Given the description of an element on the screen output the (x, y) to click on. 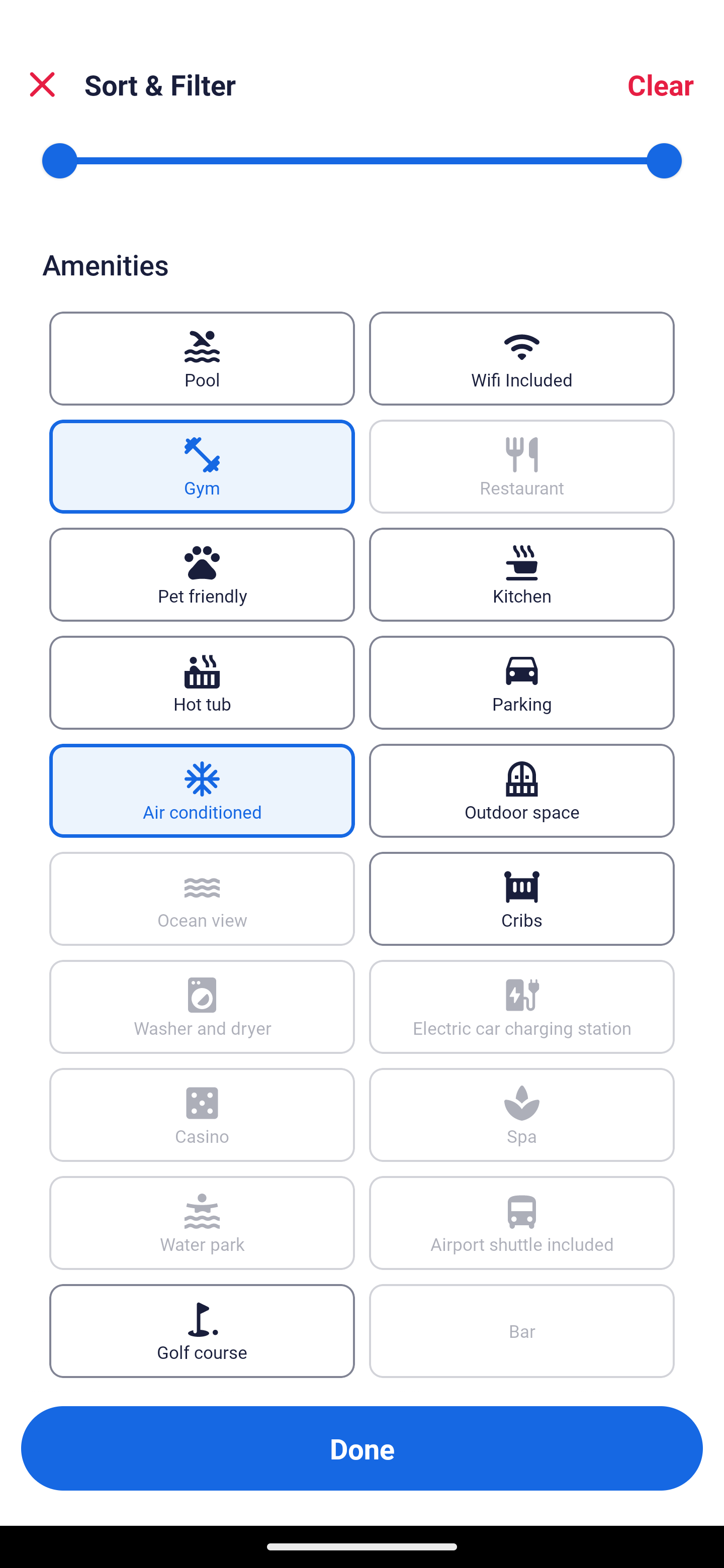
Close Sort and Filter (42, 84)
Clear (660, 84)
Pool (201, 359)
Wifi Included (521, 359)
Gym (201, 467)
Restaurant (521, 467)
Pet friendly (201, 574)
Kitchen (521, 574)
Hot tub (201, 682)
Parking (521, 682)
Air conditioned (201, 790)
Outdoor space (521, 790)
Ocean view (201, 898)
Cribs (521, 898)
Washer and dryer (201, 1006)
Electric car charging station (521, 1006)
Casino (201, 1114)
Spa (521, 1114)
Water park (201, 1223)
Airport shuttle included (521, 1223)
Golf course (201, 1331)
Bar (521, 1331)
Apply and close Sort and Filter Done (361, 1448)
